Given the description of an element on the screen output the (x, y) to click on. 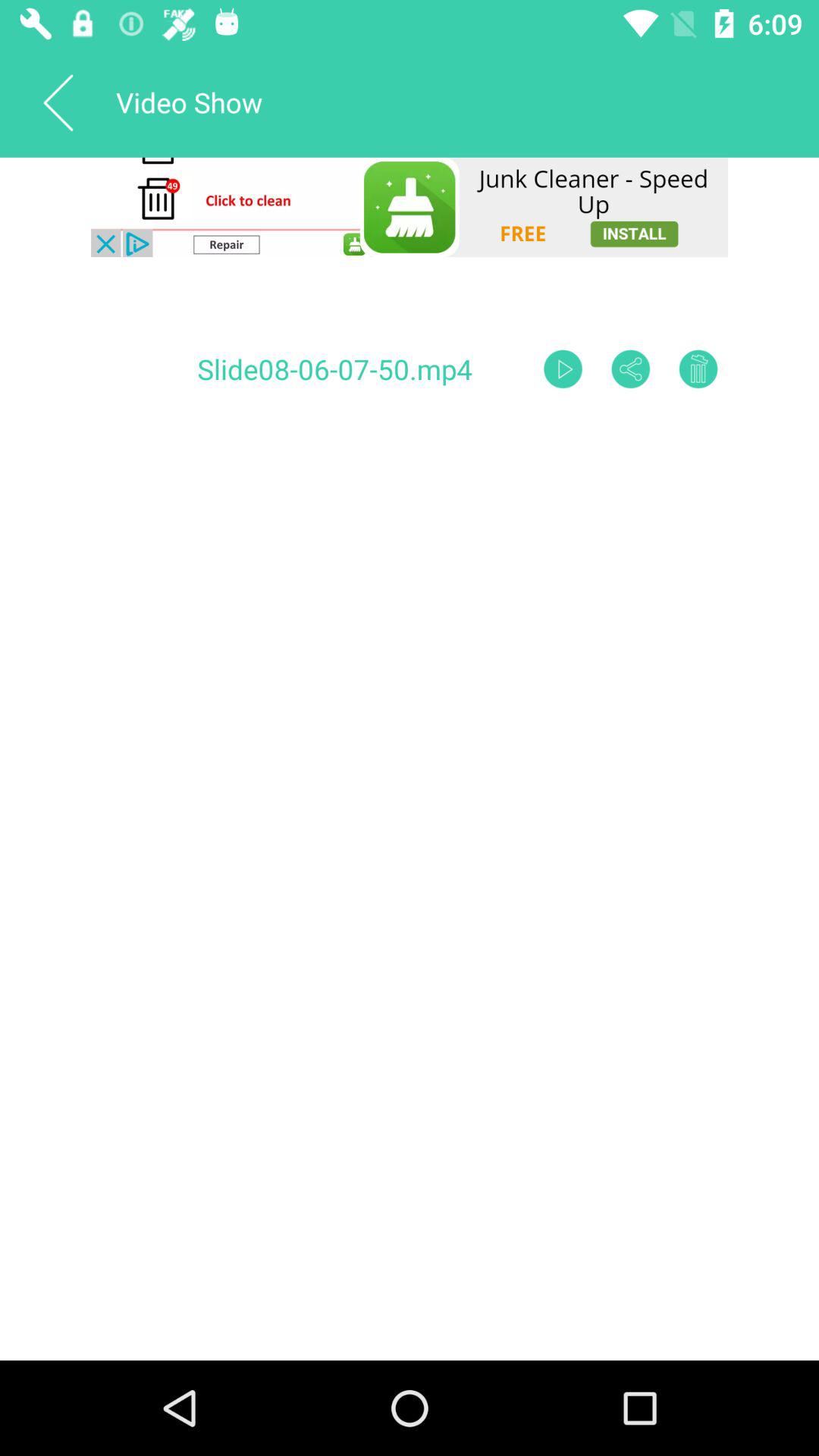
go to clean option (409, 207)
